Given the description of an element on the screen output the (x, y) to click on. 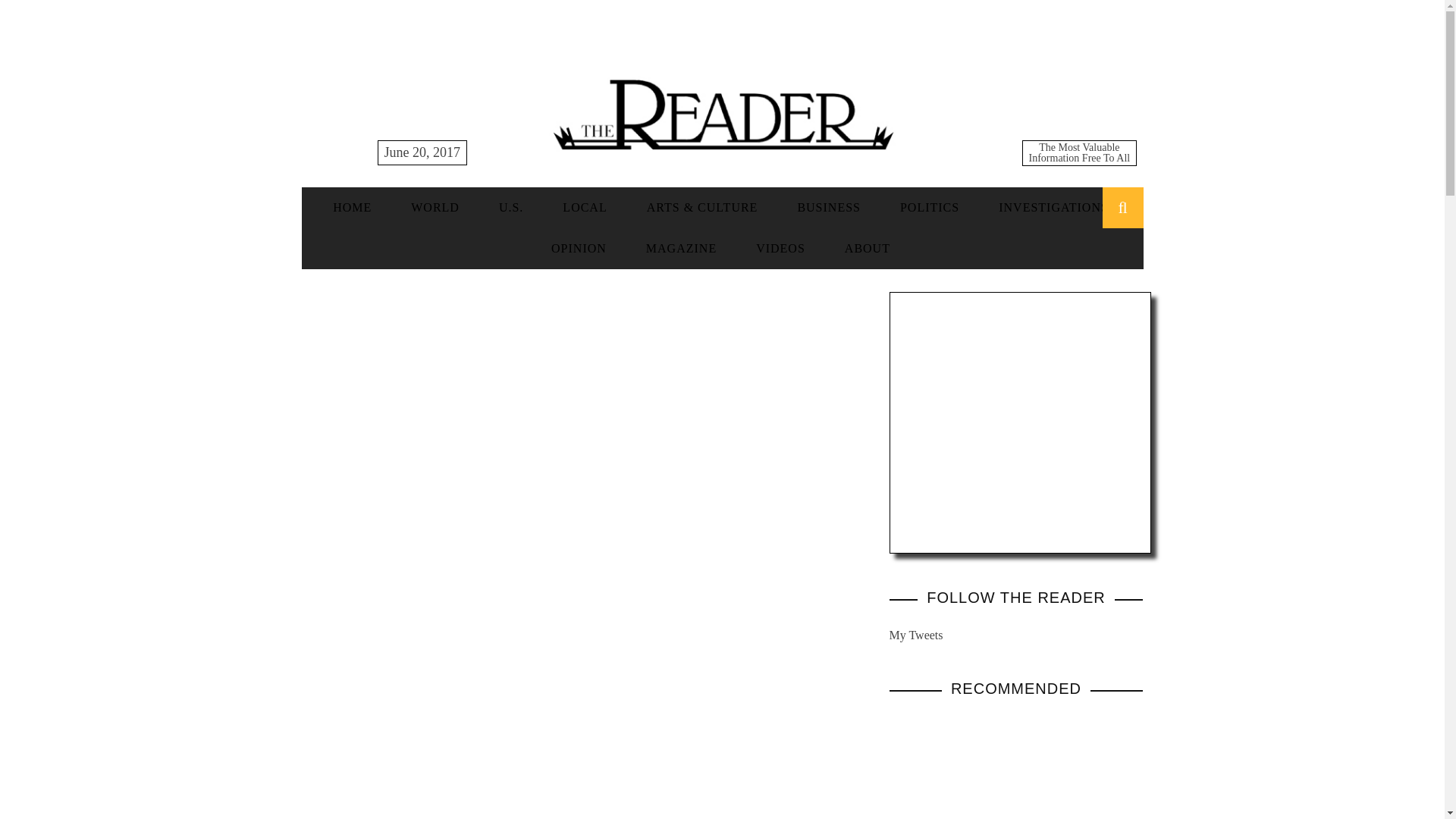
WORLD (435, 206)
HOME (352, 206)
